Given the description of an element on the screen output the (x, y) to click on. 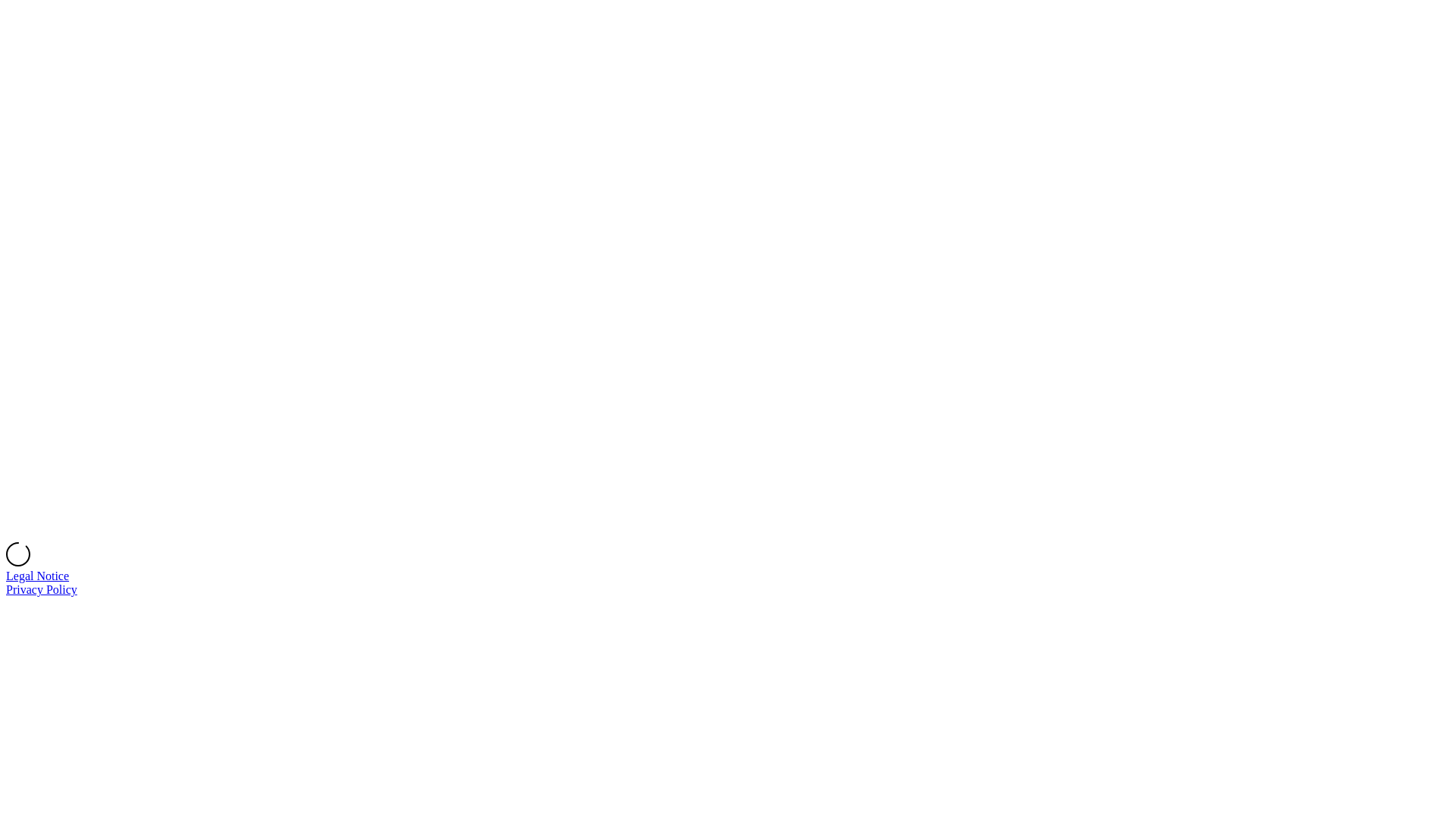
Privacy Policy Element type: text (41, 589)
Legal Notice Element type: text (37, 575)
Jimdo Logo Element type: hover (727, 274)
